Given the description of an element on the screen output the (x, y) to click on. 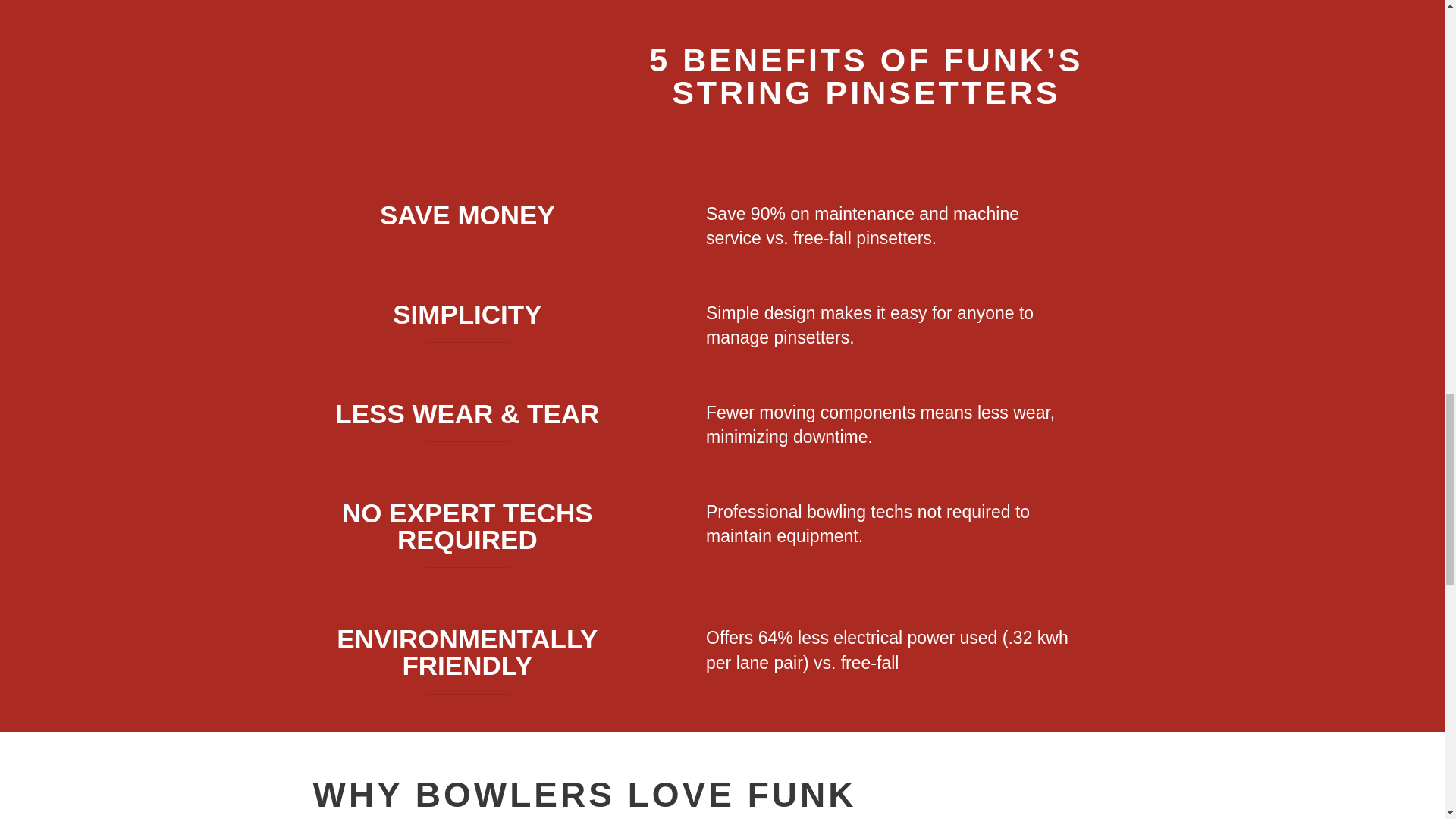
Funk-Bowling-Signature-White-Bowling-Center-Equipment228x86 (433, 102)
